Given the description of an element on the screen output the (x, y) to click on. 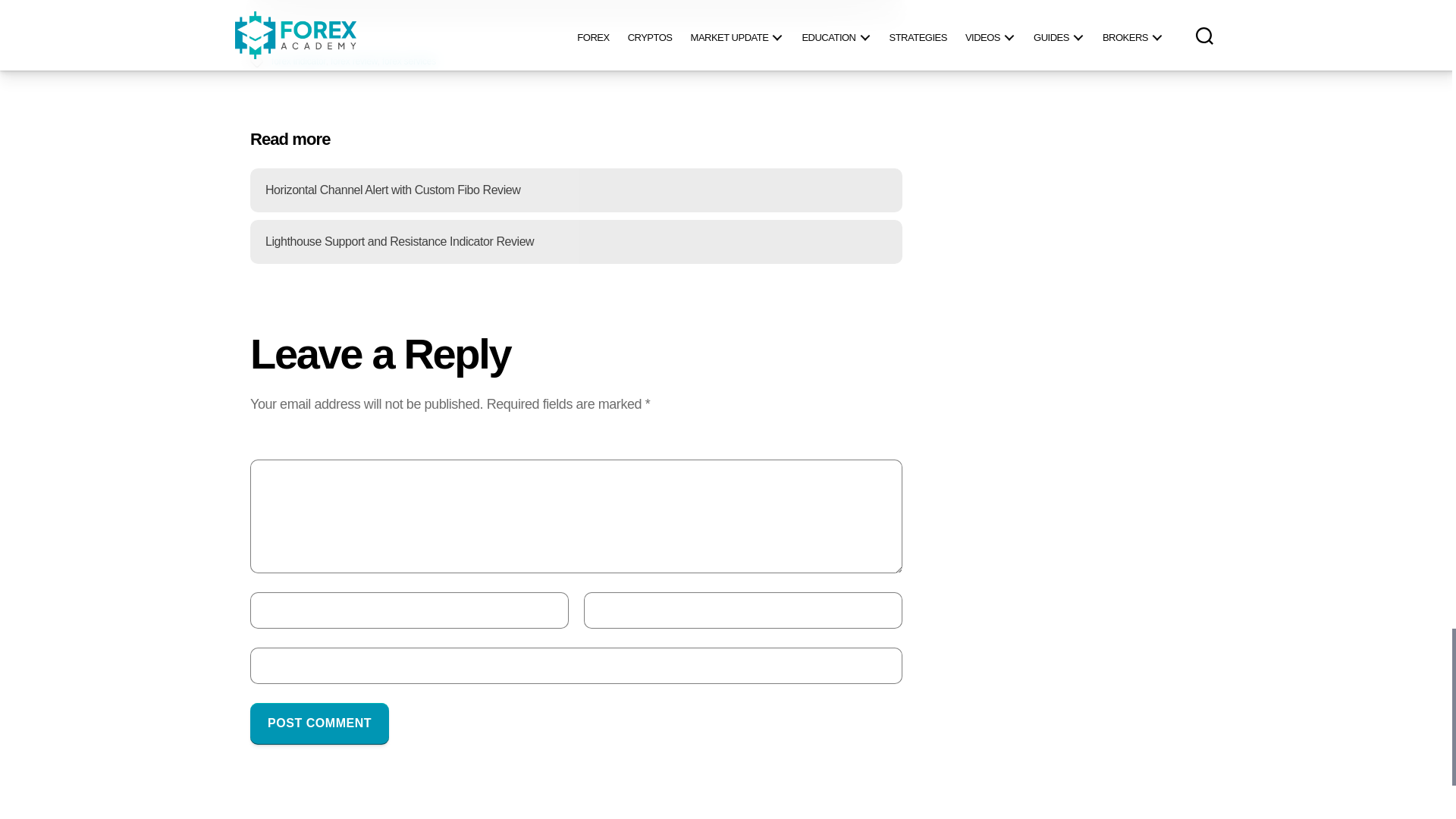
Post Comment (319, 723)
